Given the description of an element on the screen output the (x, y) to click on. 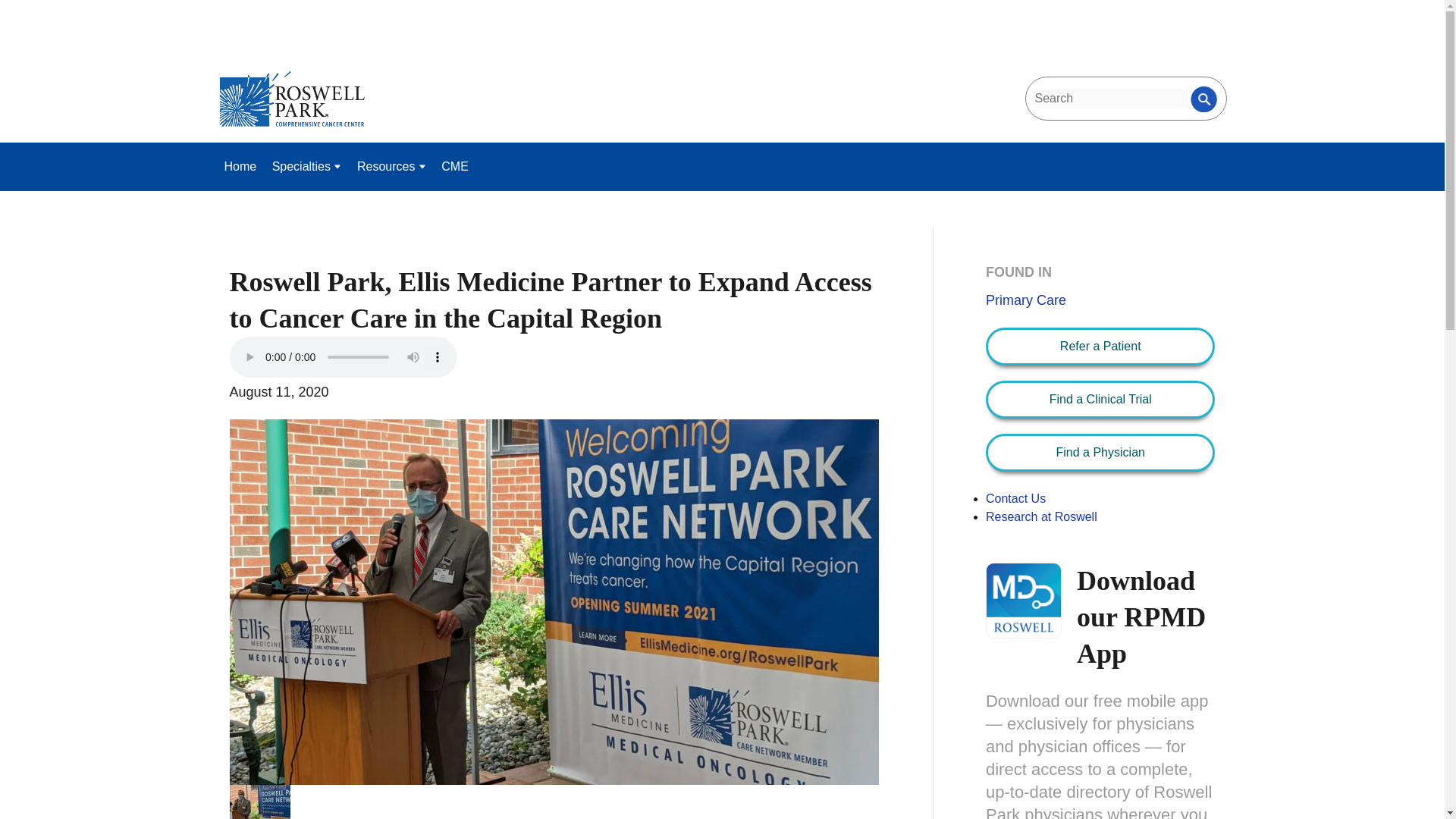
Contact Us (1015, 498)
Refer a Patient (1100, 345)
Ellis Medicine (258, 801)
Specialties (306, 166)
Find a Physician (1100, 451)
Resources (391, 166)
Home (240, 166)
Opens a widget where you can find more information (1374, 792)
Primary Care (1025, 299)
Find a Clinical Trial (1100, 399)
Research at Roswell (1041, 516)
